Given the description of an element on the screen output the (x, y) to click on. 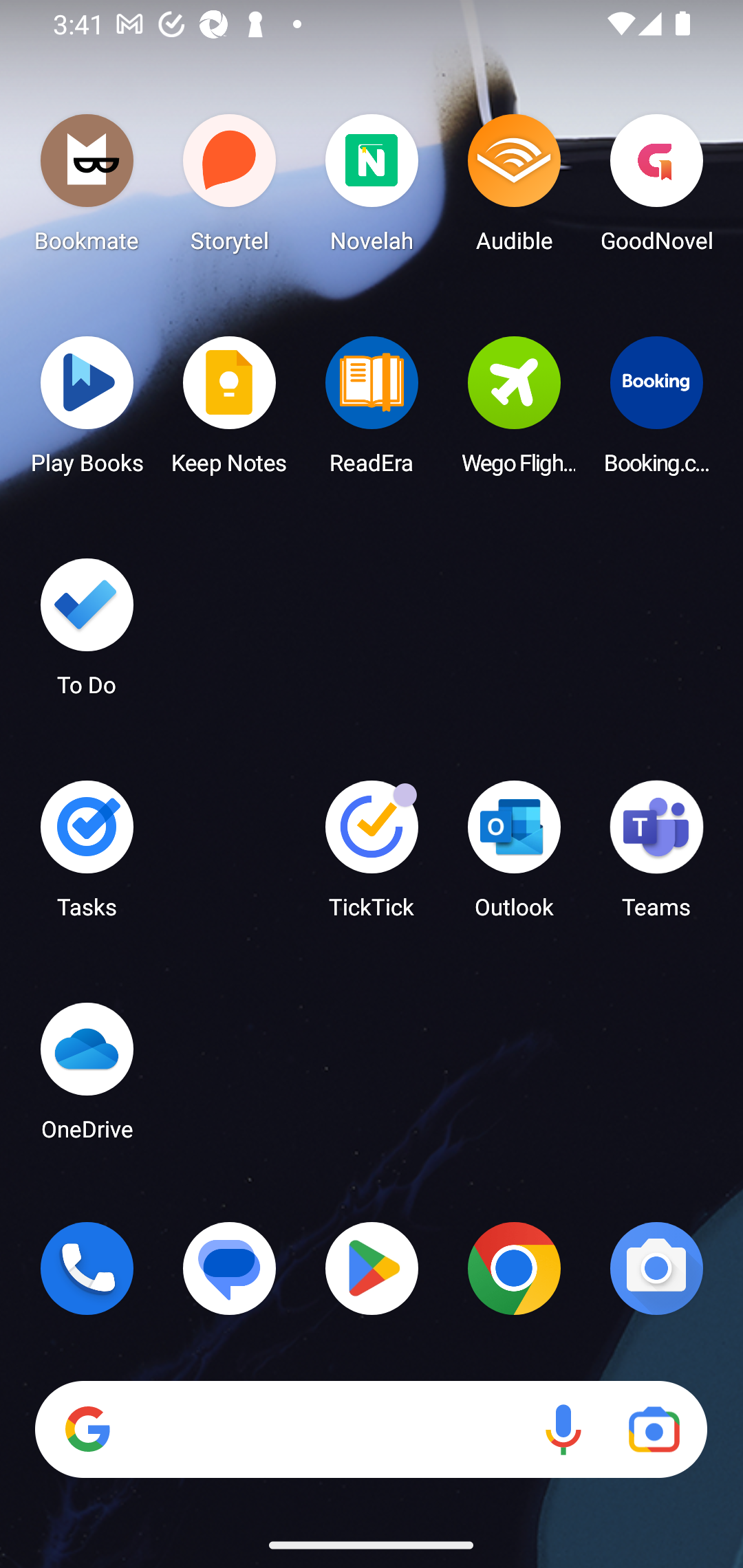
Bookmate (86, 188)
Storytel (229, 188)
Novelah (371, 188)
Audible (513, 188)
GoodNovel (656, 188)
Play Books (86, 410)
Keep Notes (229, 410)
ReadEra (371, 410)
Wego Flights & Hotels (513, 410)
Booking.com (656, 410)
To Do (86, 633)
Tasks (86, 854)
TickTick TickTick has 3 notifications (371, 854)
Outlook (513, 854)
Teams (656, 854)
OneDrive (86, 1076)
Phone (86, 1268)
Messages (229, 1268)
Play Store (371, 1268)
Chrome (513, 1268)
Camera (656, 1268)
Search Voice search Google Lens (370, 1429)
Voice search (562, 1429)
Google Lens (653, 1429)
